Given the description of an element on the screen output the (x, y) to click on. 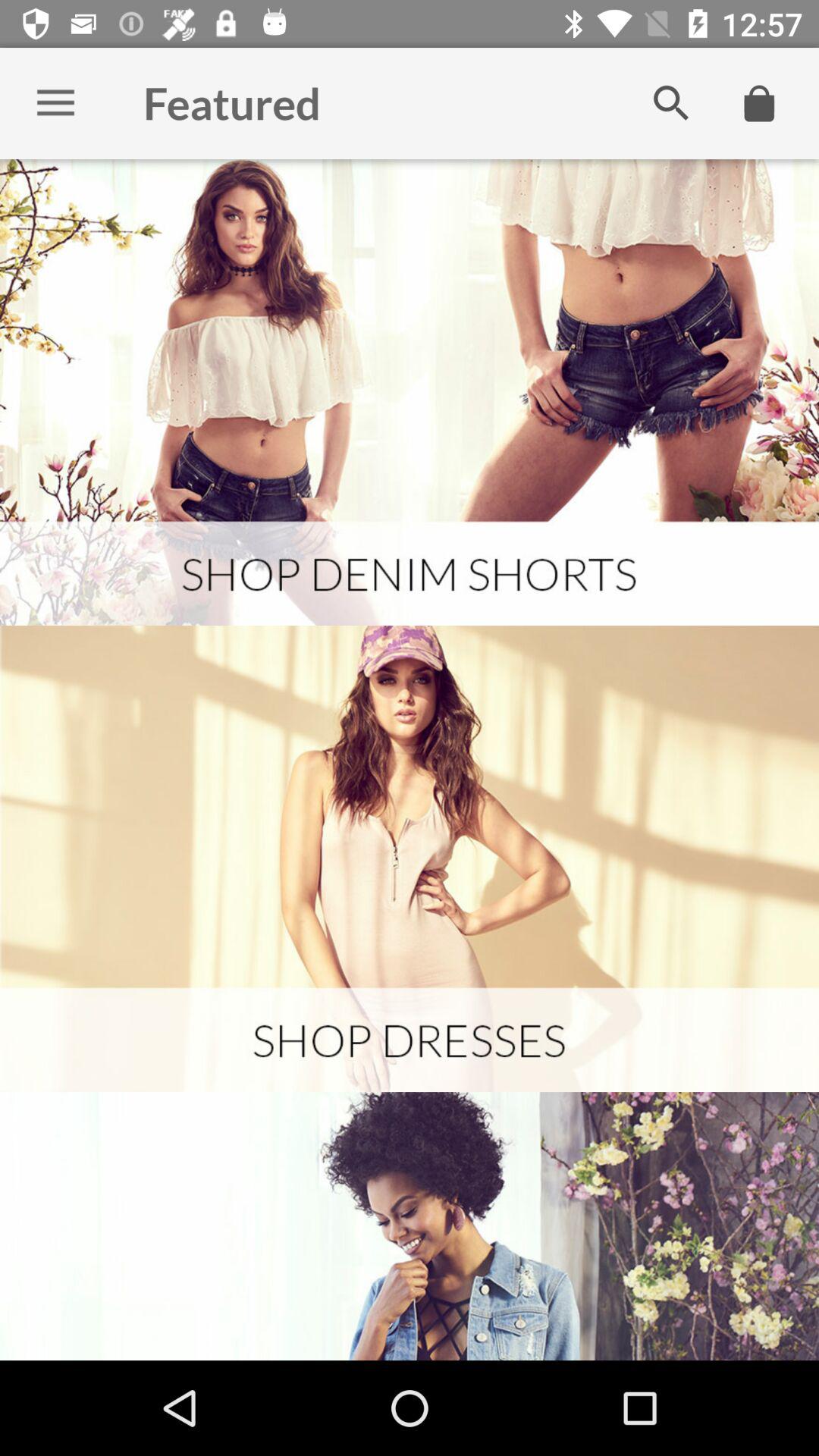
display field (409, 392)
